Given the description of an element on the screen output the (x, y) to click on. 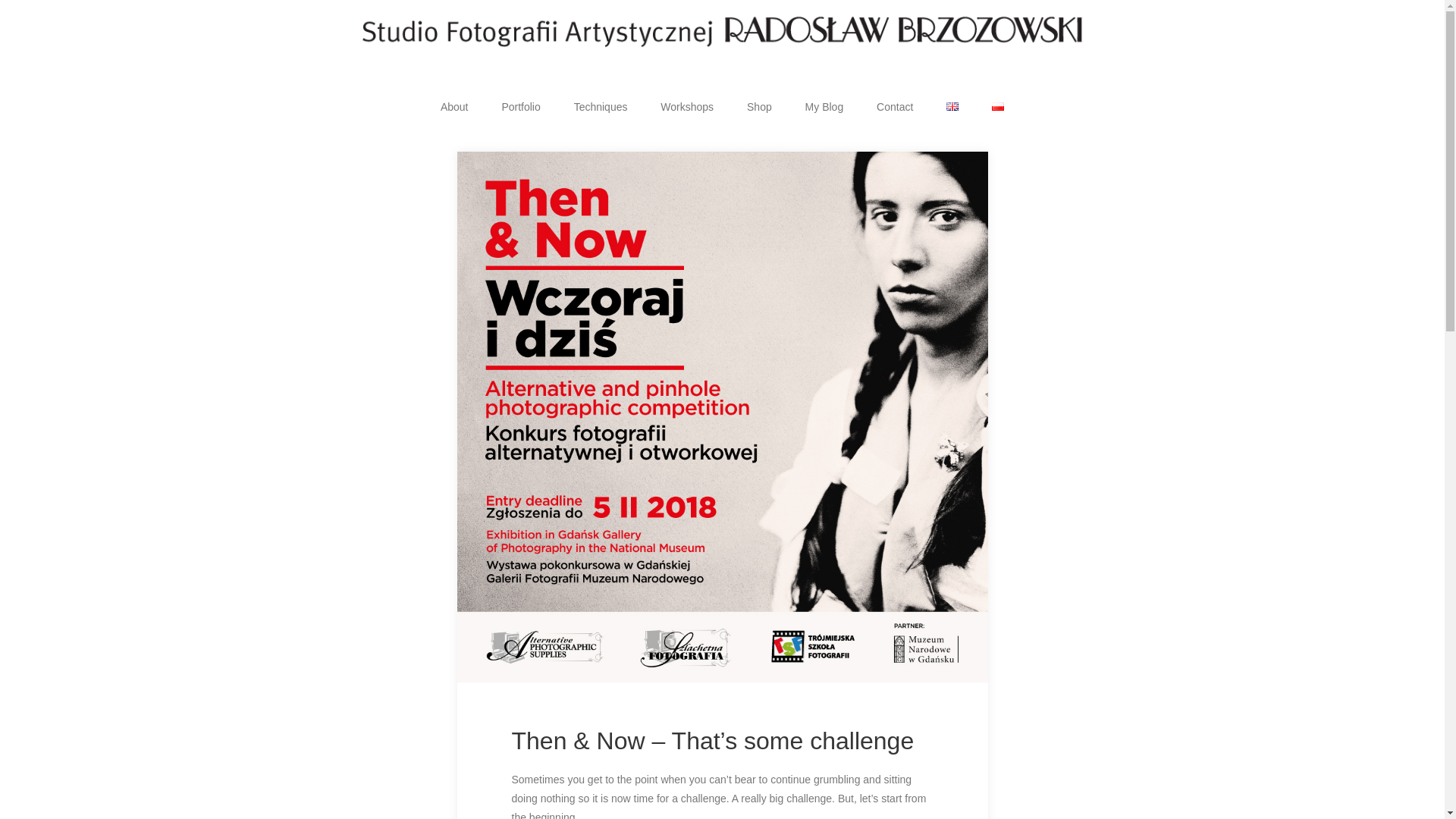
Contact (894, 106)
Workshops (687, 106)
Portfolio (520, 106)
About (454, 106)
Techniques (601, 106)
My Blog (824, 106)
Shop (759, 106)
